Given the description of an element on the screen output the (x, y) to click on. 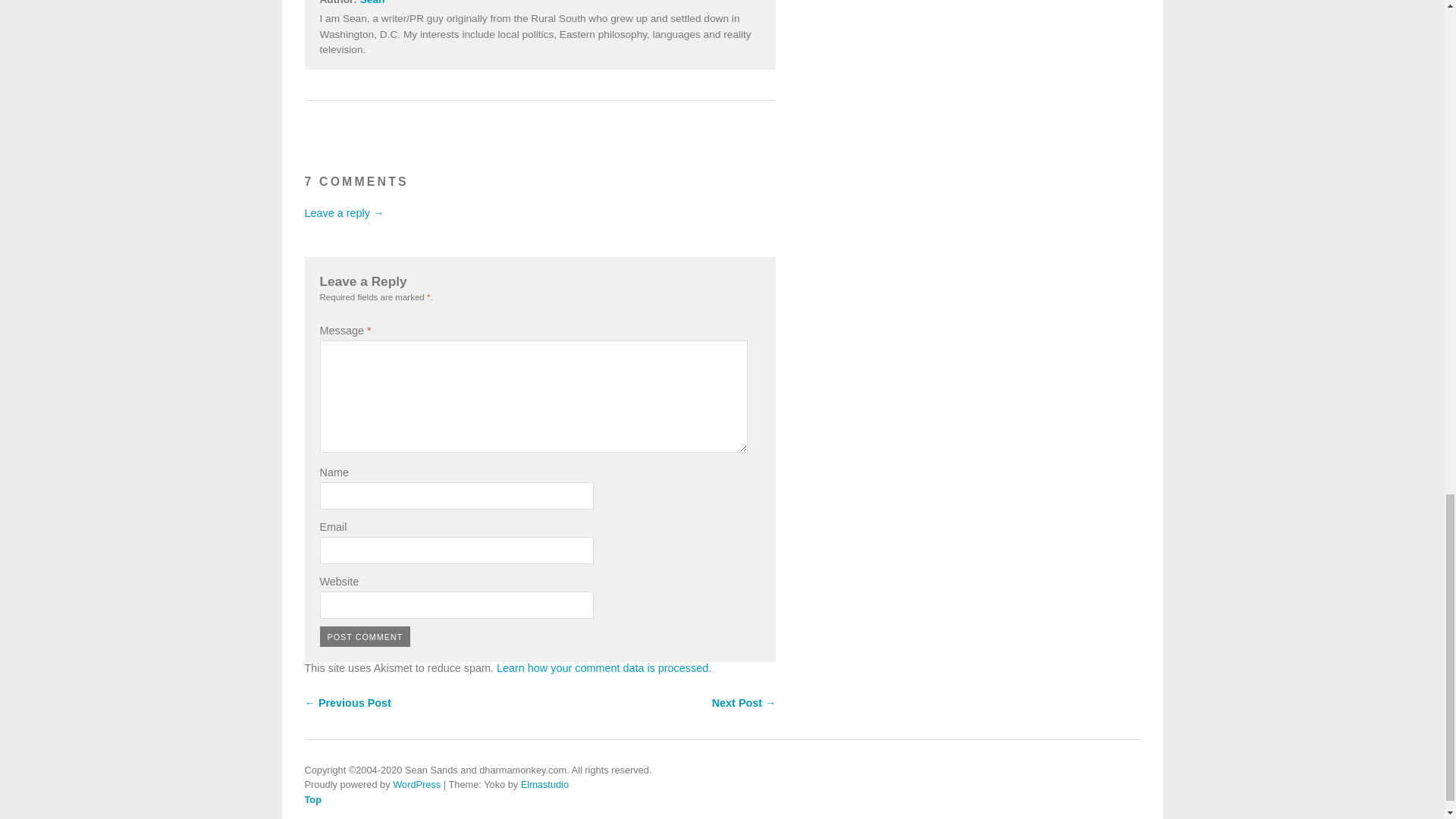
Sean (372, 2)
Post Comment (365, 636)
Learn how your comment data is processed (601, 667)
Sean (372, 2)
Post Comment (365, 636)
